Given the description of an element on the screen output the (x, y) to click on. 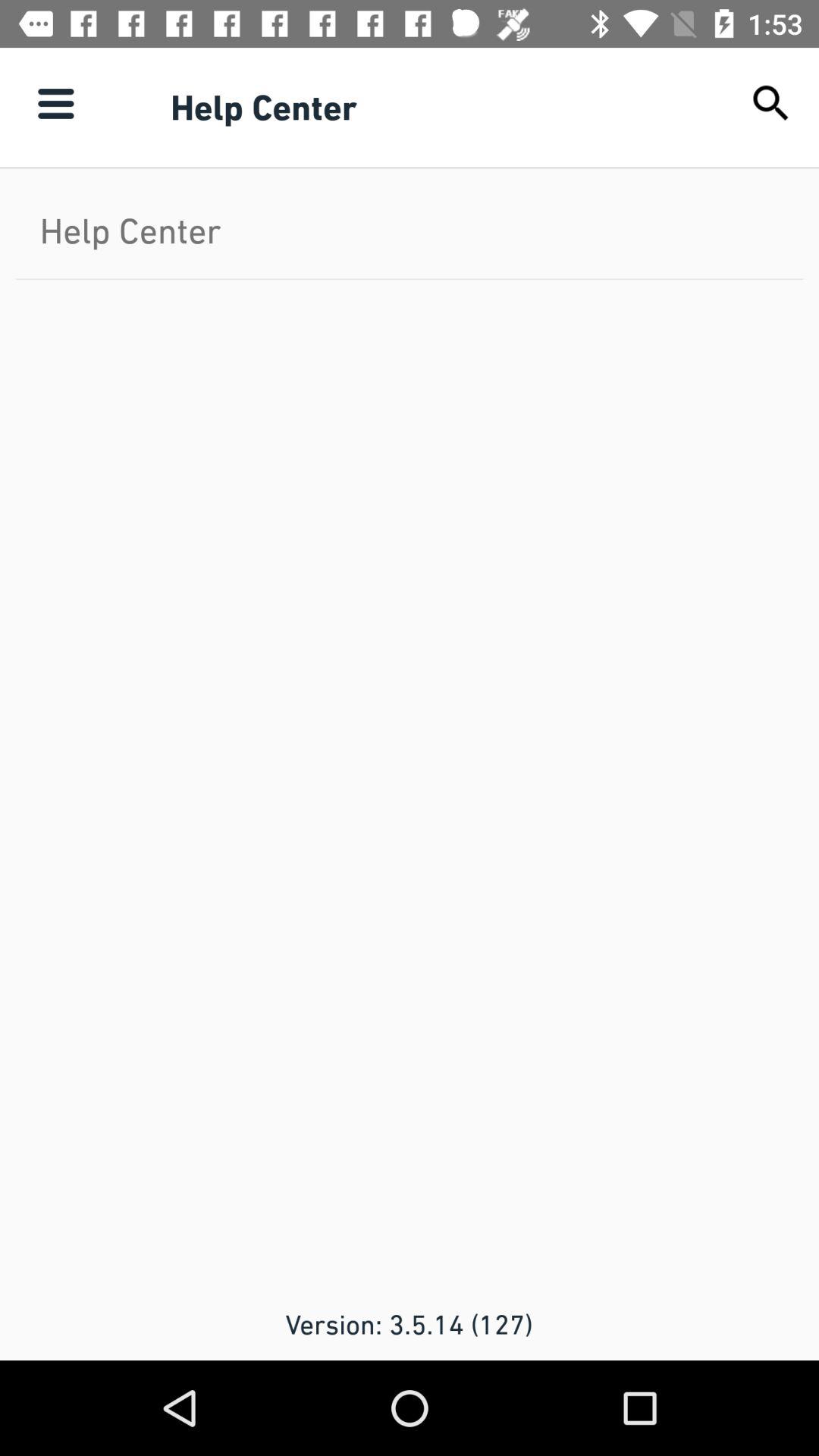
press the icon to the left of the help center icon (55, 103)
